Given the description of an element on the screen output the (x, y) to click on. 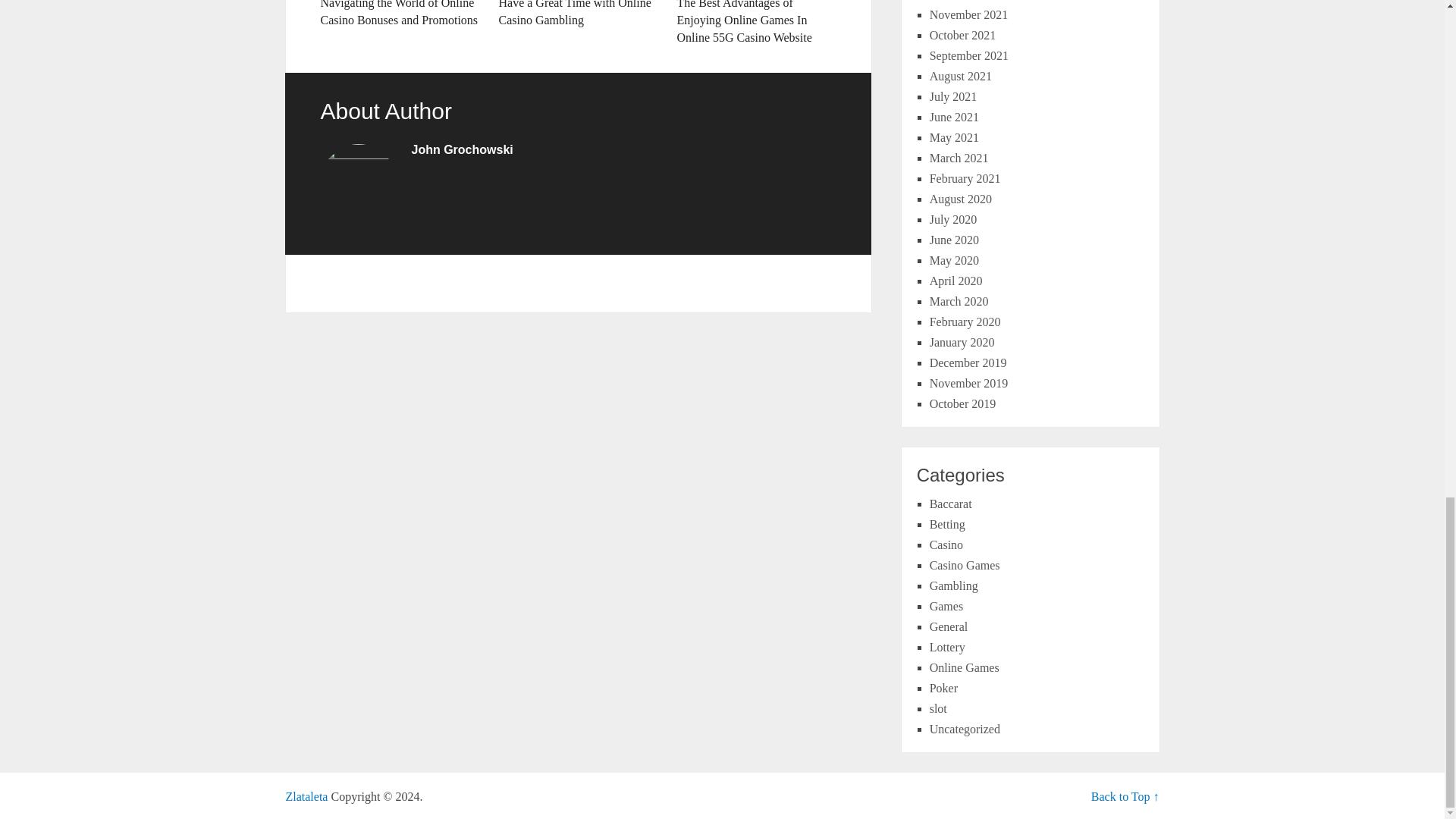
Navigating the World of Online Casino Bonuses and Promotions (399, 14)
Have a Great Time with Online Casino Gambling (577, 14)
Navigating the World of Online Casino Bonuses and Promotions (399, 14)
Have a Great Time with Online Casino Gambling (577, 14)
